Given the description of an element on the screen output the (x, y) to click on. 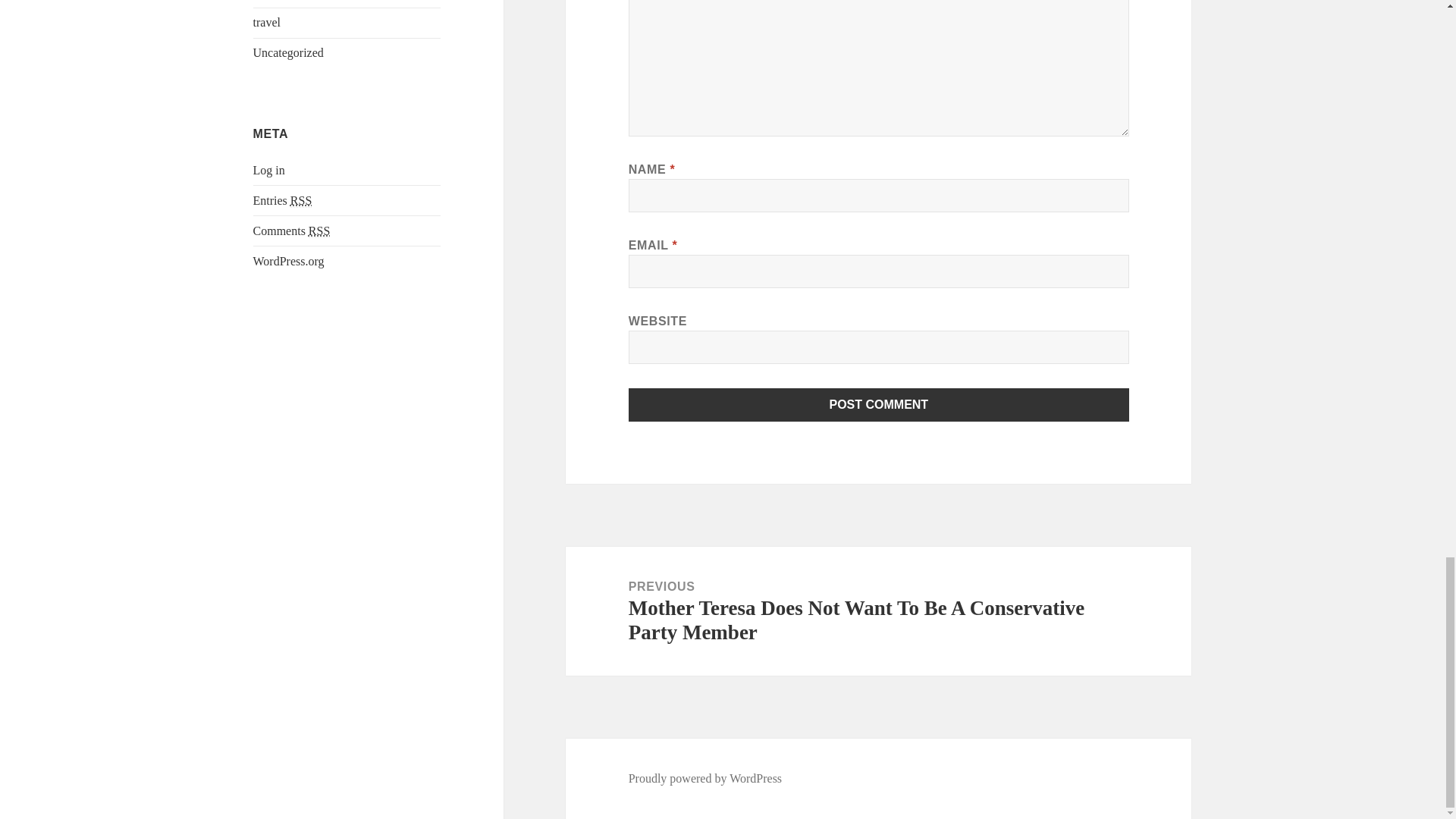
Post Comment (878, 404)
Really Simple Syndication (300, 201)
Really Simple Syndication (319, 231)
